Given the description of an element on the screen output the (x, y) to click on. 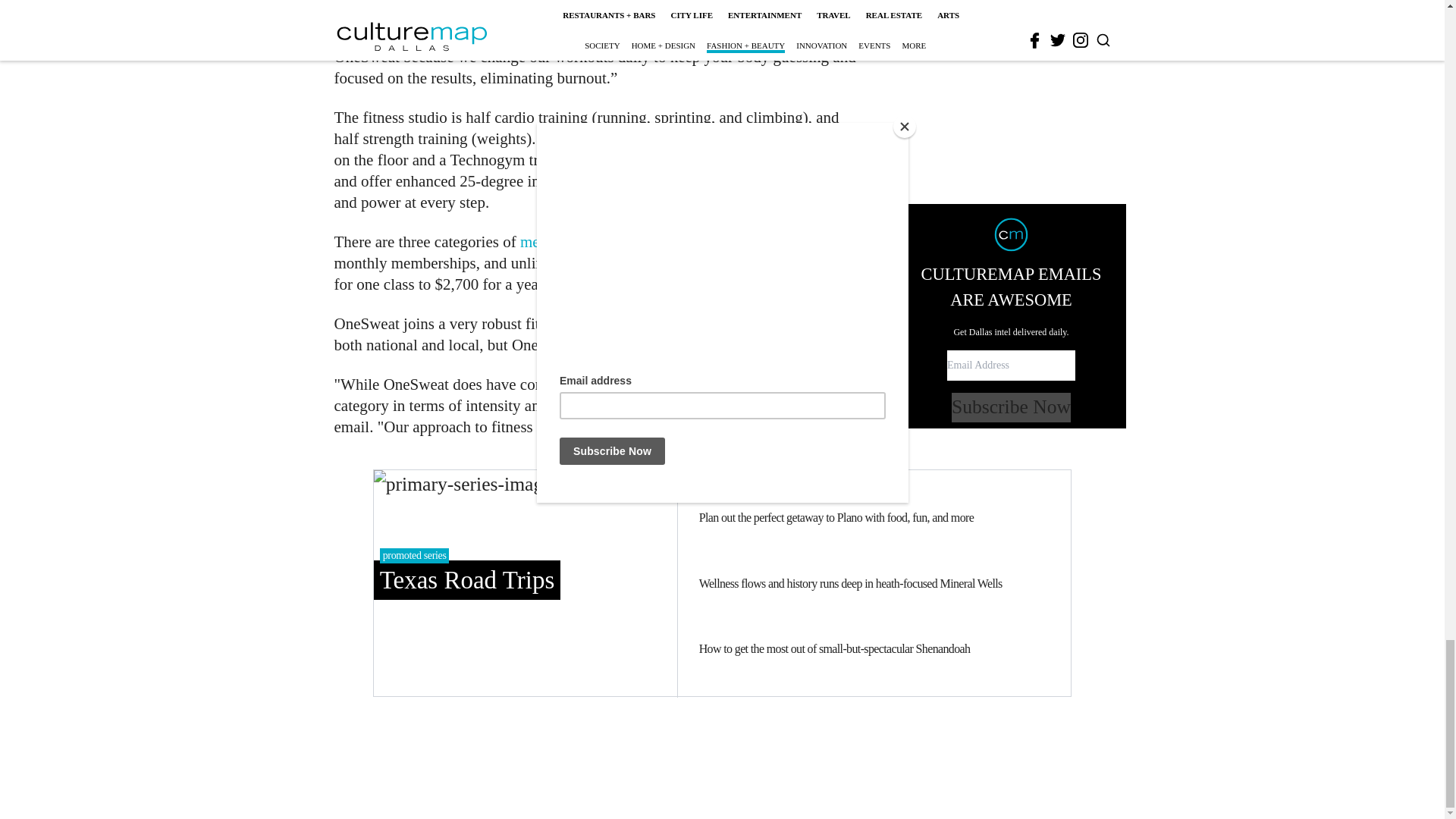
primary-link (525, 582)
